Given the description of an element on the screen output the (x, y) to click on. 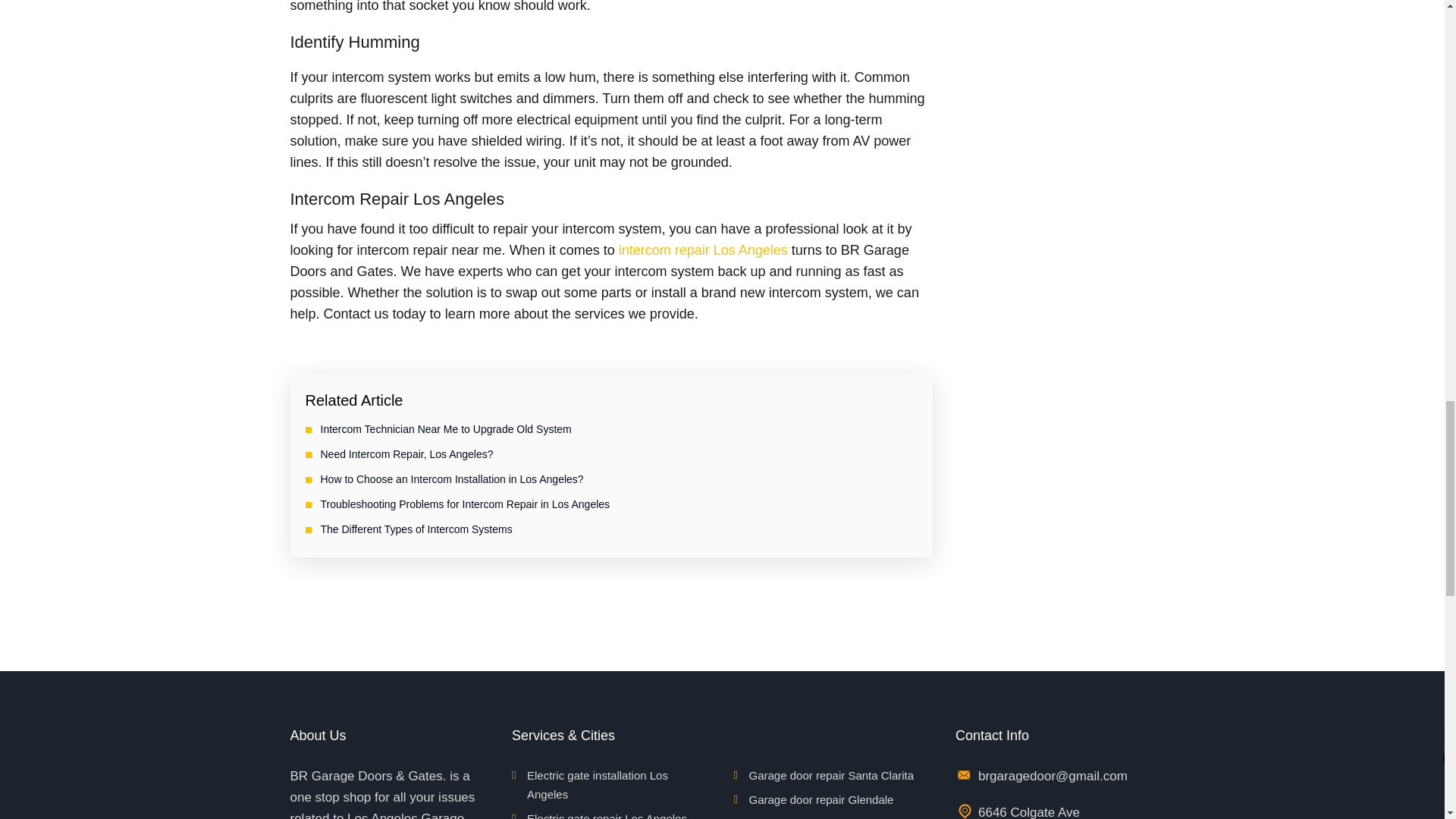
Troubleshooting Problems for Intercom Repair in Los Angeles (465, 503)
Need Intercom Repair, Los Angeles? (406, 453)
Troubleshooting Problems for Intercom Repair in Los Angeles (465, 503)
How to Choose an Intercom Installation in Los Angeles? (451, 479)
The Different Types of Intercom  Systems (416, 529)
intercom repair Los Angeles (702, 249)
How to Choose an Intercom Installation in Los Angeles? (451, 479)
The Different Types of Intercom Systems (416, 529)
Intercom Technician Near Me to Upgrade Old System (445, 428)
Need Intercom Repair, Los Angeles? (406, 453)
Intercom Technician Near Me to Upgrade Old  System (445, 428)
